Given the description of an element on the screen output the (x, y) to click on. 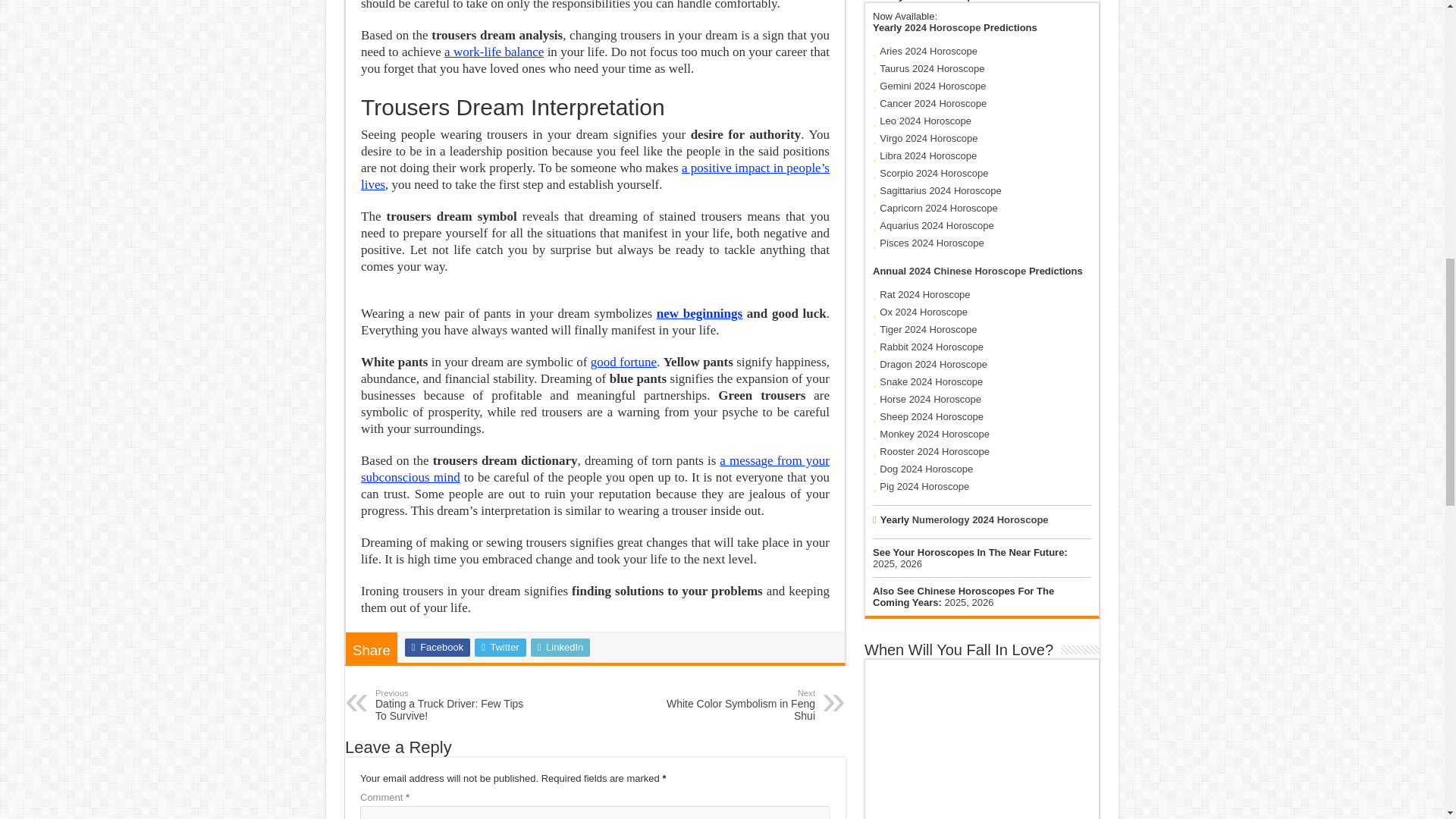
Cancer 2024 Horoscope (933, 102)
LinkedIn (561, 647)
Facebook (437, 647)
a message from your subconscious mind (453, 704)
Gemini 2024 Horoscope (595, 468)
Twitter (932, 85)
new beginnings (499, 647)
Aries 2024 Horoscope (699, 313)
2024 Horoscope (927, 50)
